Given the description of an element on the screen output the (x, y) to click on. 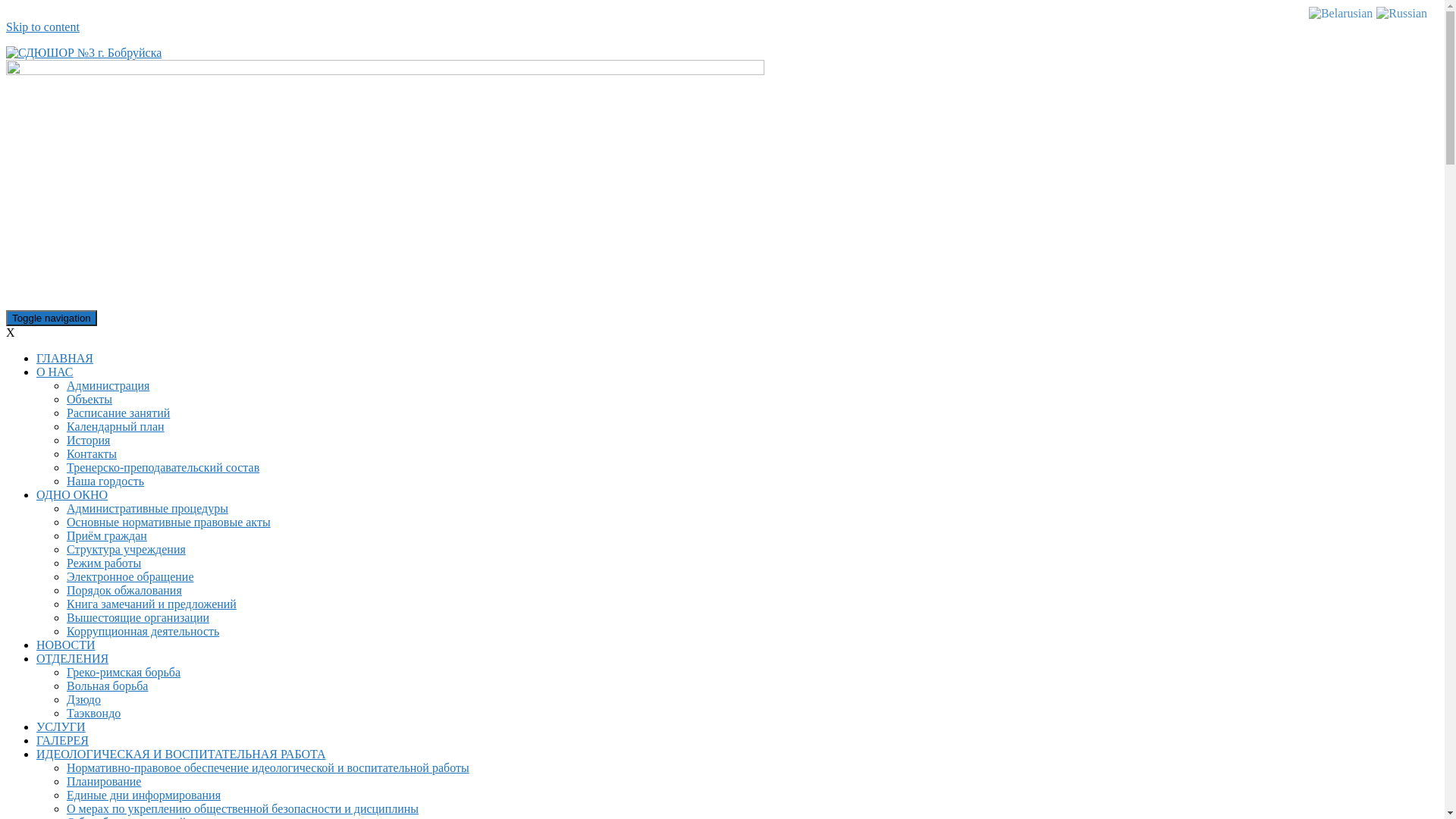
Skip to content Element type: text (42, 26)
Toggle navigation Element type: text (51, 318)
Russian Element type: hover (1401, 12)
Belarusian Element type: hover (1340, 12)
